Given the description of an element on the screen output the (x, y) to click on. 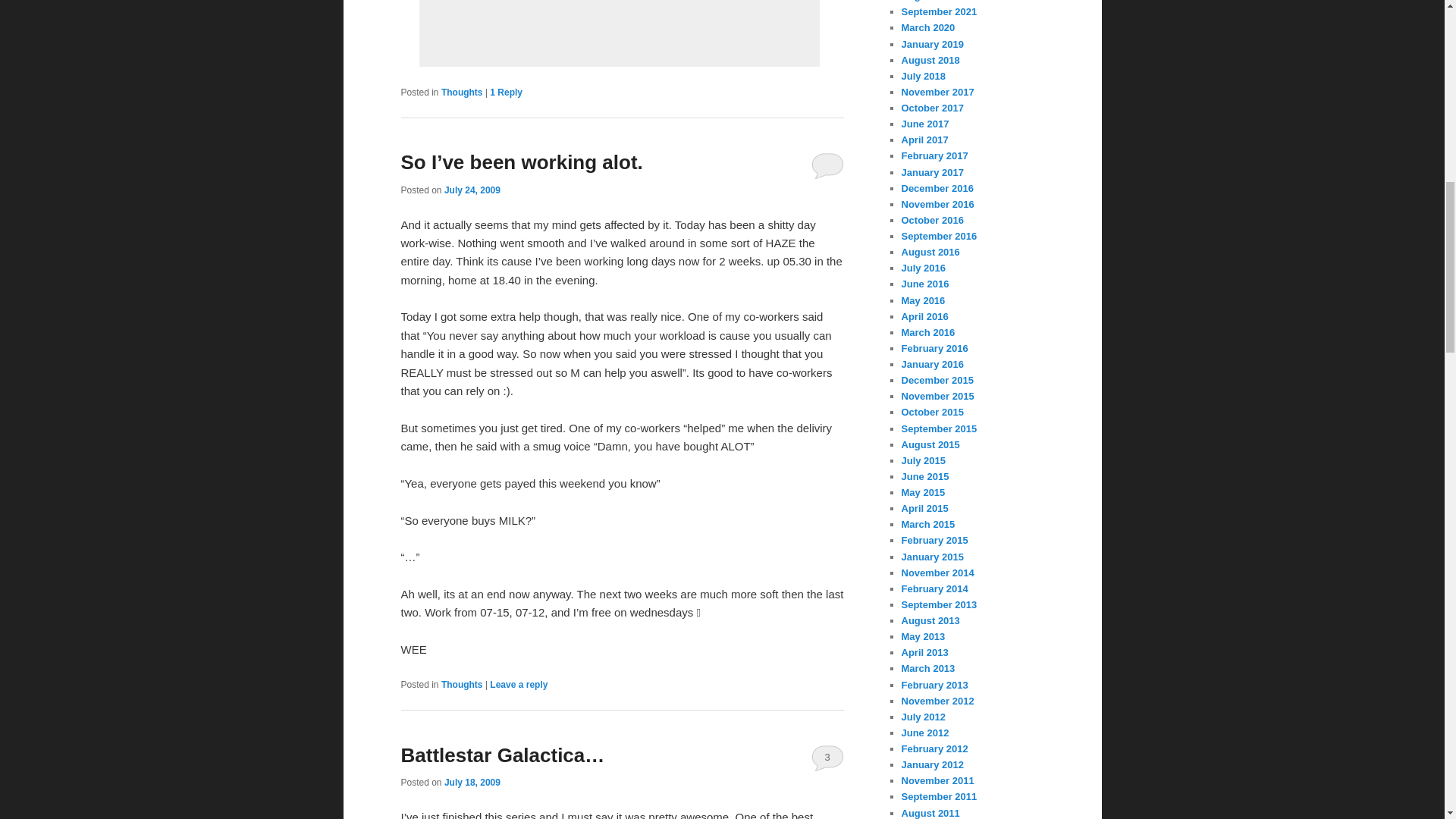
Thoughts (462, 684)
3 (827, 757)
1 Reply (505, 91)
20:04 (472, 190)
July 24, 2009 (472, 190)
09:01 (472, 782)
July 18, 2009 (472, 782)
Thoughts (462, 91)
Leave a reply (518, 684)
cruise control for cool (614, 29)
